Given the description of an element on the screen output the (x, y) to click on. 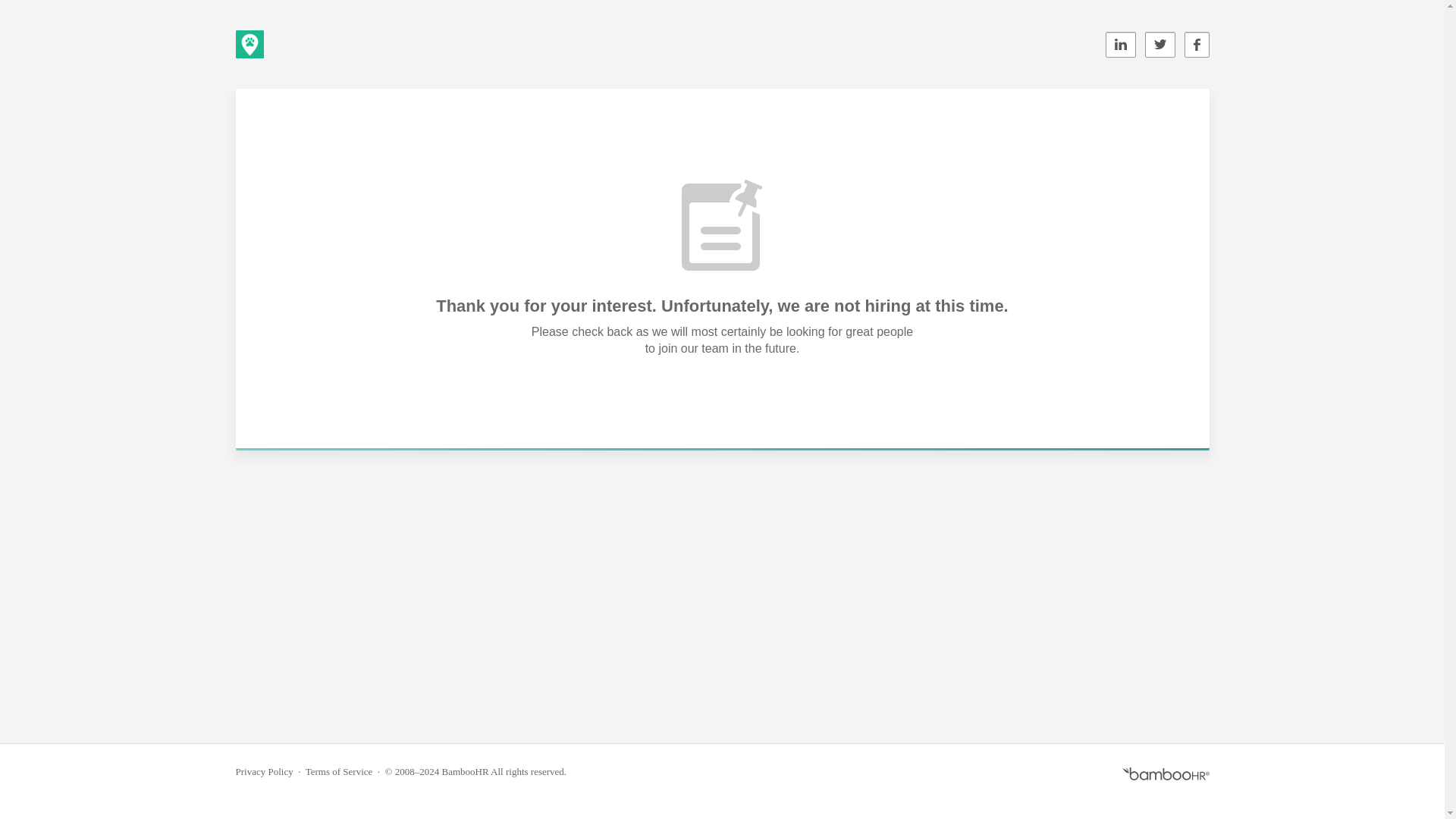
Terms of Service (338, 771)
Privacy Policy (263, 771)
